Given the description of an element on the screen output the (x, y) to click on. 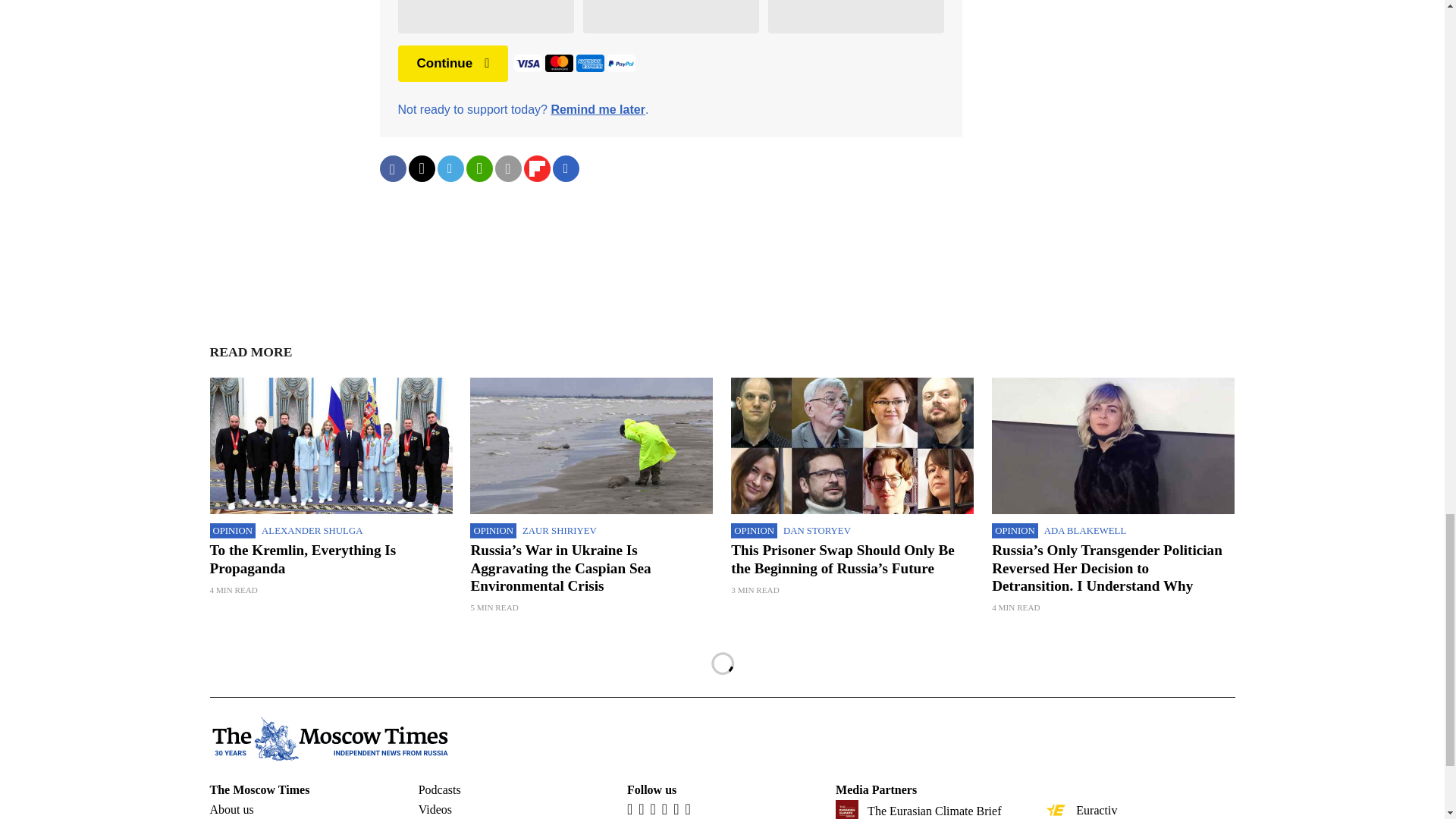
Share on WhatsApp (478, 168)
Share on Twitter (420, 168)
Share with email (508, 168)
Share on Facebook (392, 168)
Share on Telegram (449, 168)
Share on Flipboard (536, 168)
Download as PDF (565, 168)
